Given the description of an element on the screen output the (x, y) to click on. 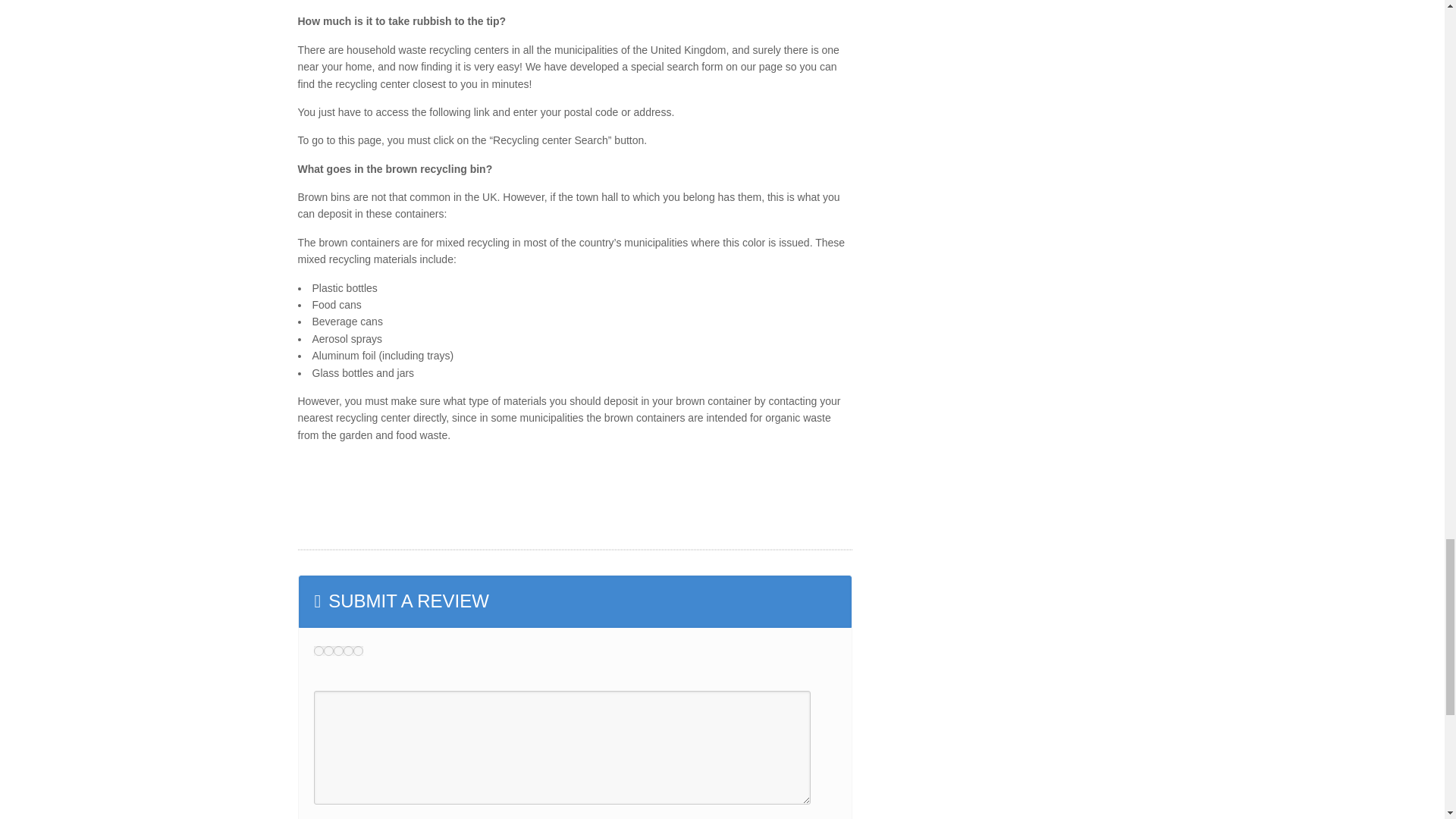
4 (347, 651)
3 (338, 651)
1 (318, 651)
2 (328, 651)
5 (357, 651)
